Given the description of an element on the screen output the (x, y) to click on. 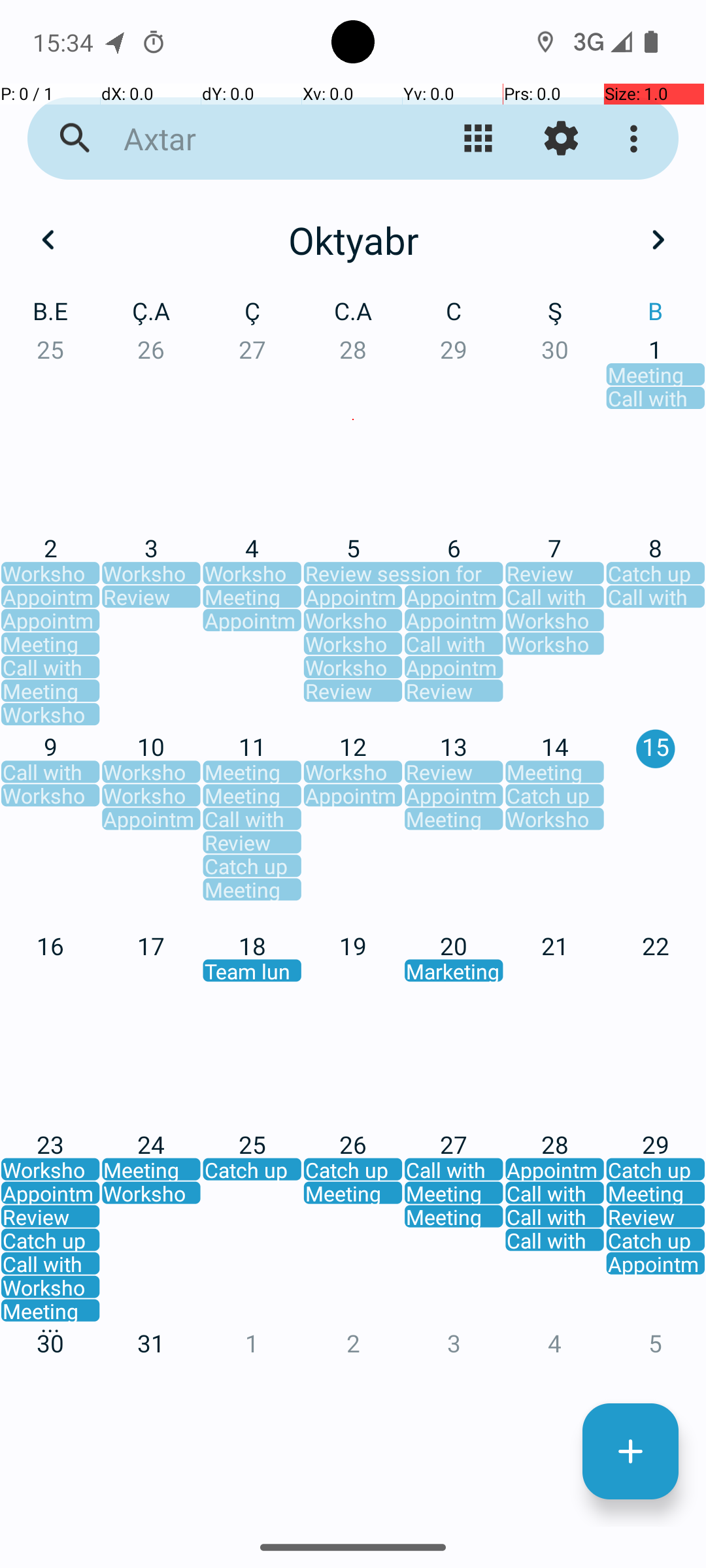
Axtar Element type: android.widget.EditText (252, 138)
Görünüşü dəyiş Element type: android.widget.Button (477, 138)
Parametrlər Element type: android.widget.Button (560, 138)
Digər seçimlər Element type: android.widget.ImageView (636, 138)
Yeni Hadisə Element type: android.widget.ImageButton (630, 1451)
Oktyabr Element type: android.widget.TextView (352, 239)
